Given the description of an element on the screen output the (x, y) to click on. 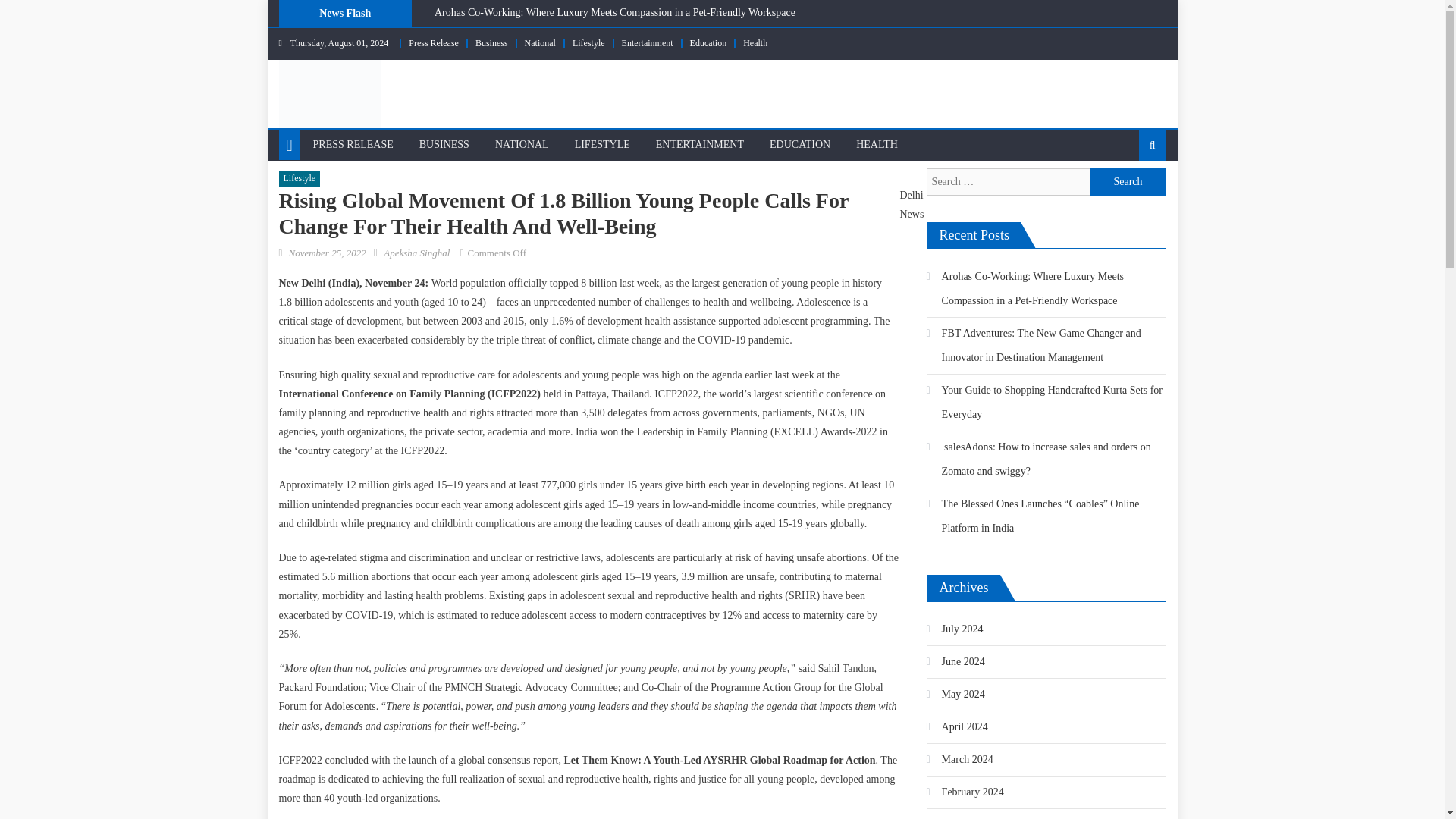
NATIONAL (521, 144)
Search (1128, 194)
Apeksha Singhal (416, 252)
Press Release (433, 42)
Search (1128, 181)
LIFESTYLE (602, 144)
Search (1128, 181)
Entertainment (646, 42)
Business (492, 42)
PRESS RELEASE (352, 144)
November 25, 2022 (326, 252)
EDUCATION (799, 144)
Education (708, 42)
Lifestyle (588, 42)
ENTERTAINMENT (700, 144)
